Given the description of an element on the screen output the (x, y) to click on. 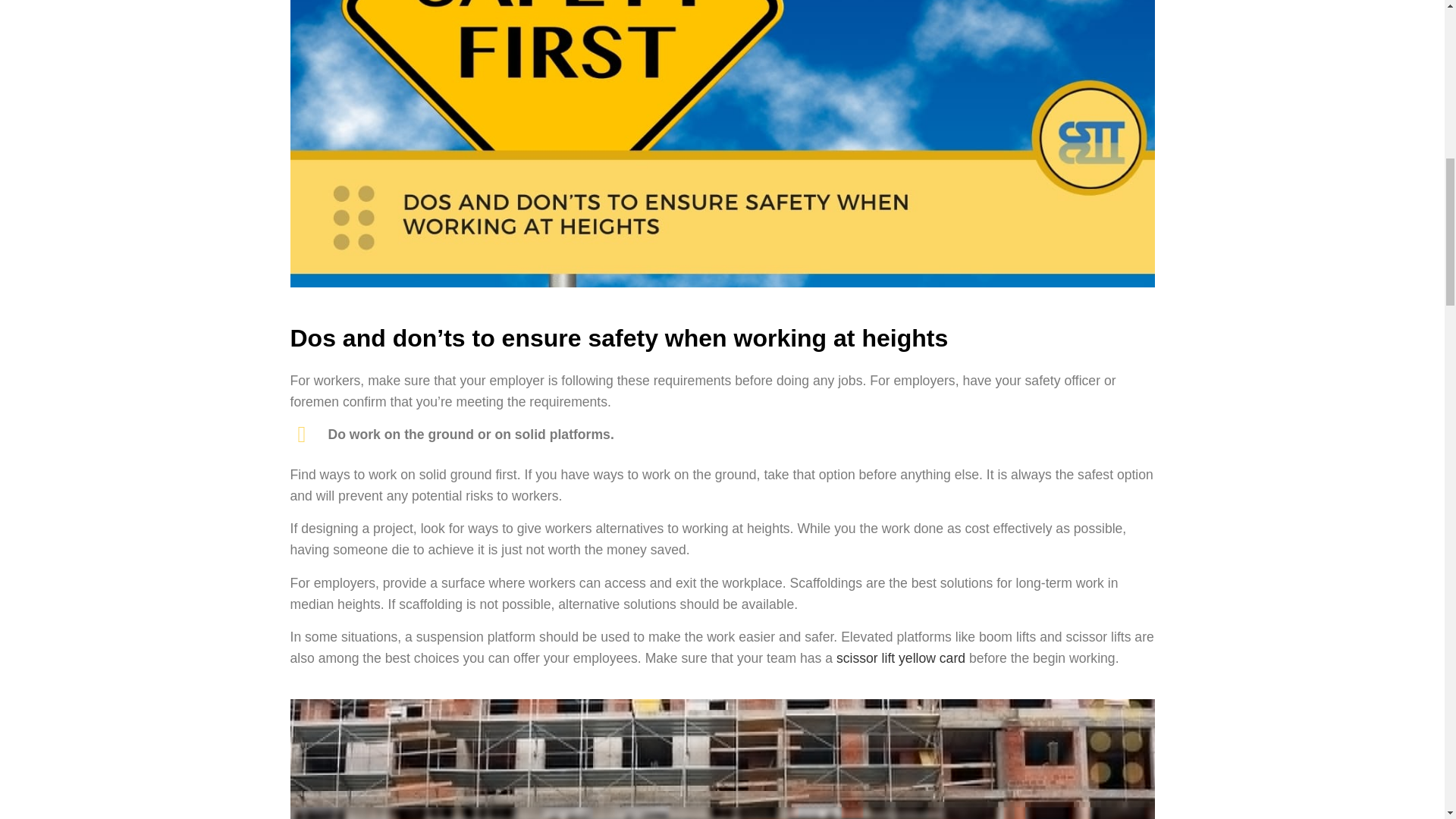
Working at height - CS Transport Training (721, 759)
